Given the description of an element on the screen output the (x, y) to click on. 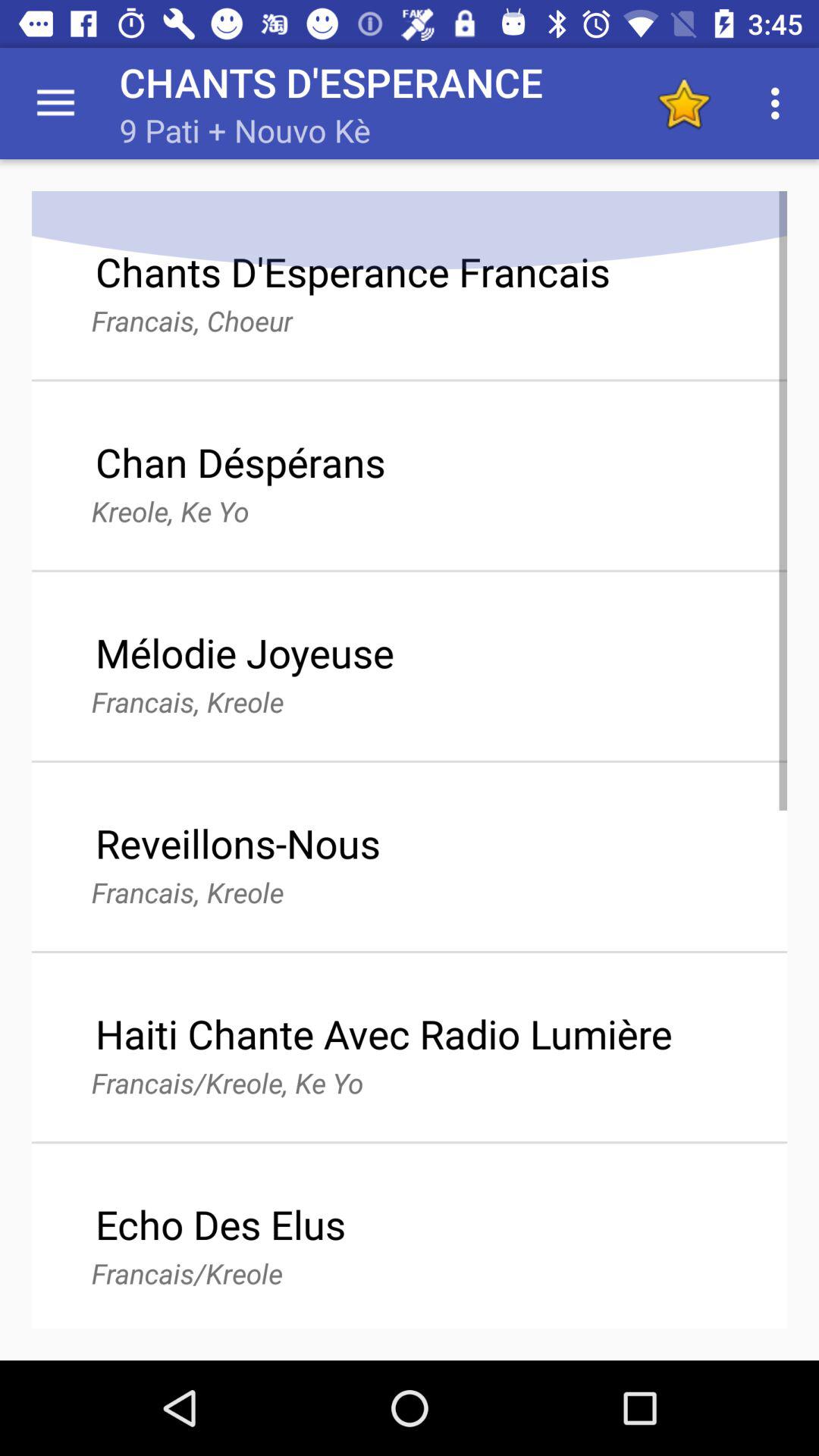
open the item below francais, kreole (383, 1033)
